Given the description of an element on the screen output the (x, y) to click on. 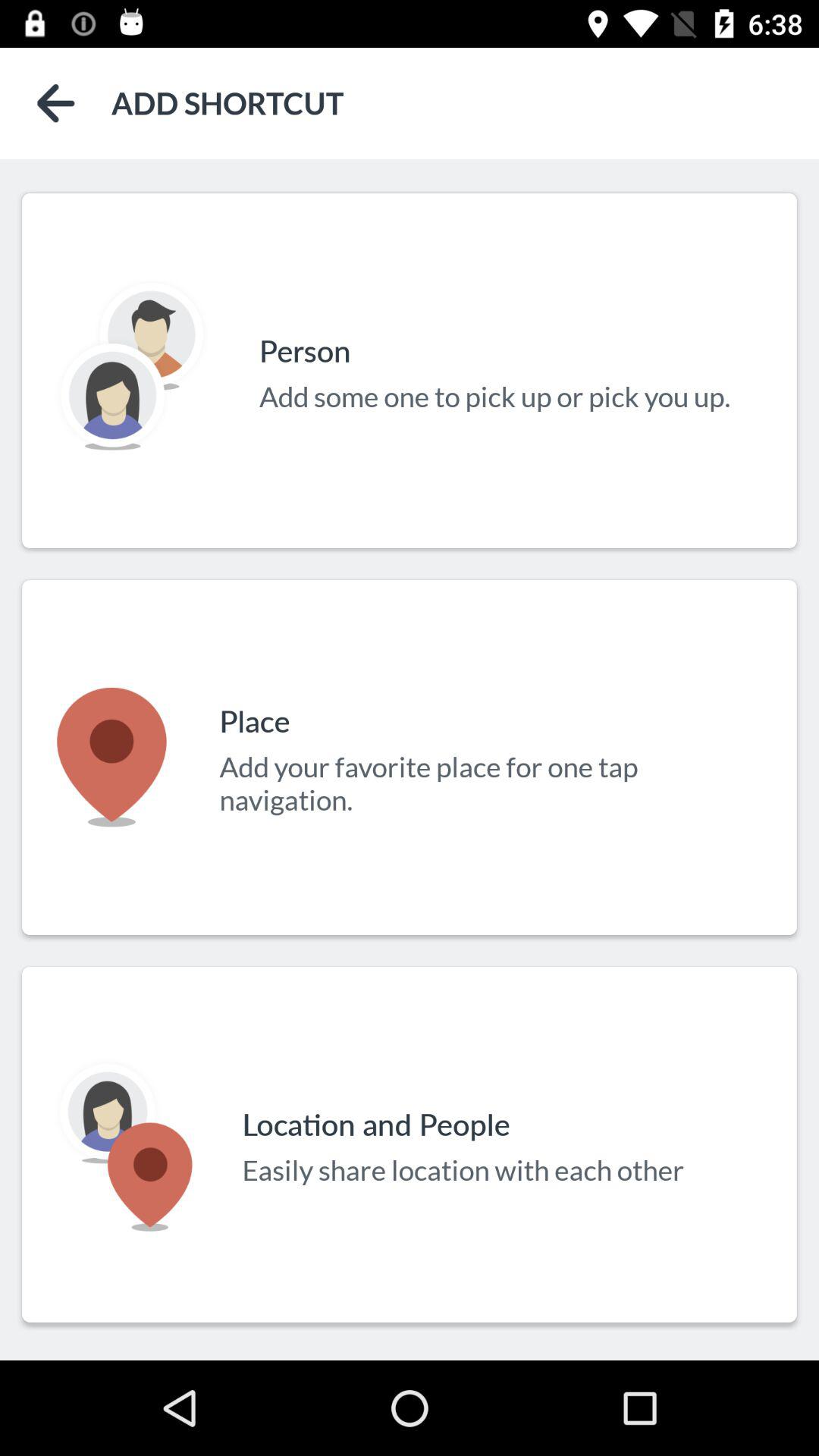
select the item next to the add shortcut icon (55, 103)
